Given the description of an element on the screen output the (x, y) to click on. 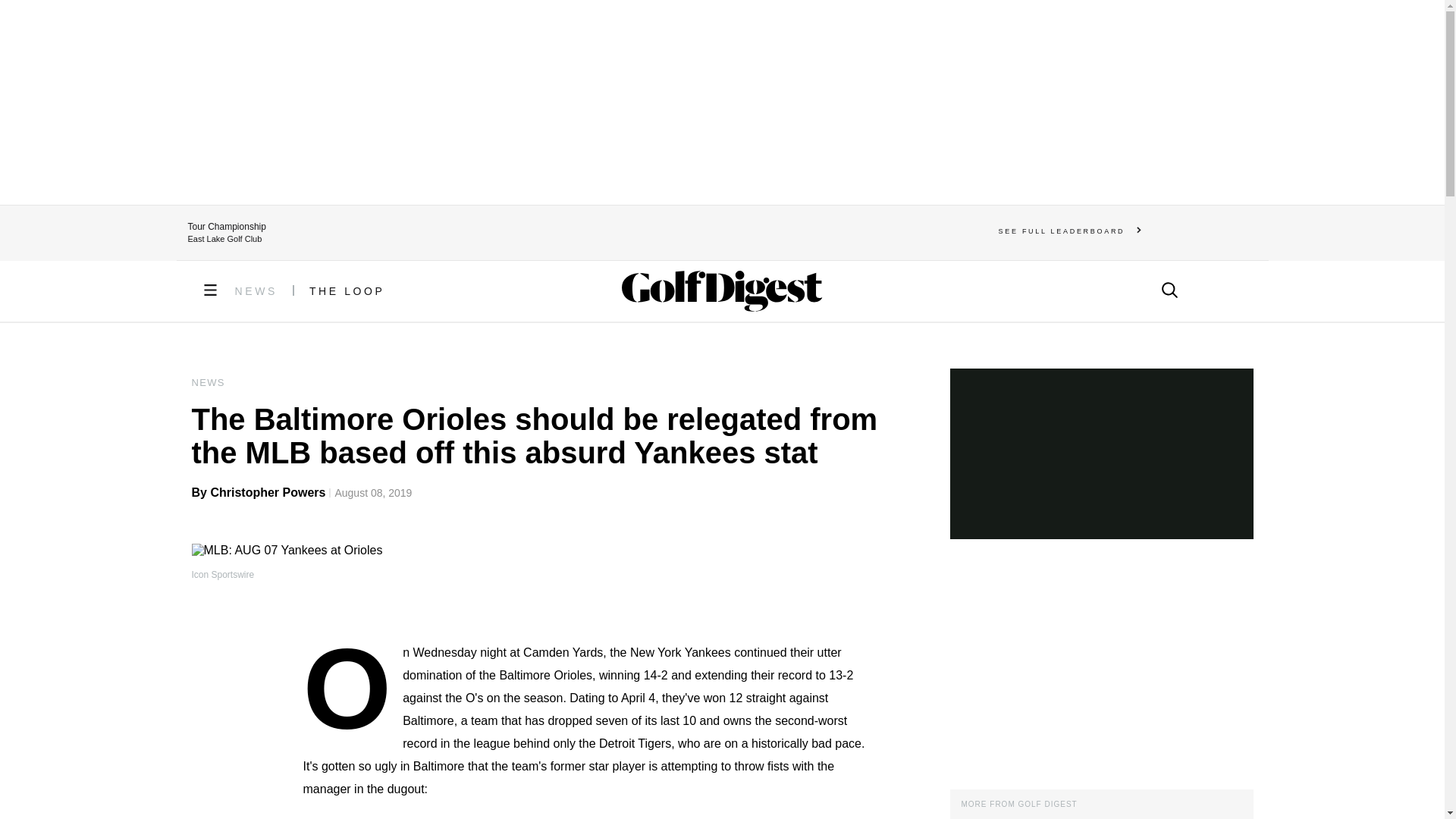
SEE FULL LEADERBOARD (1069, 230)
NEWS (256, 291)
THE LOOP (346, 291)
